Given the description of an element on the screen output the (x, y) to click on. 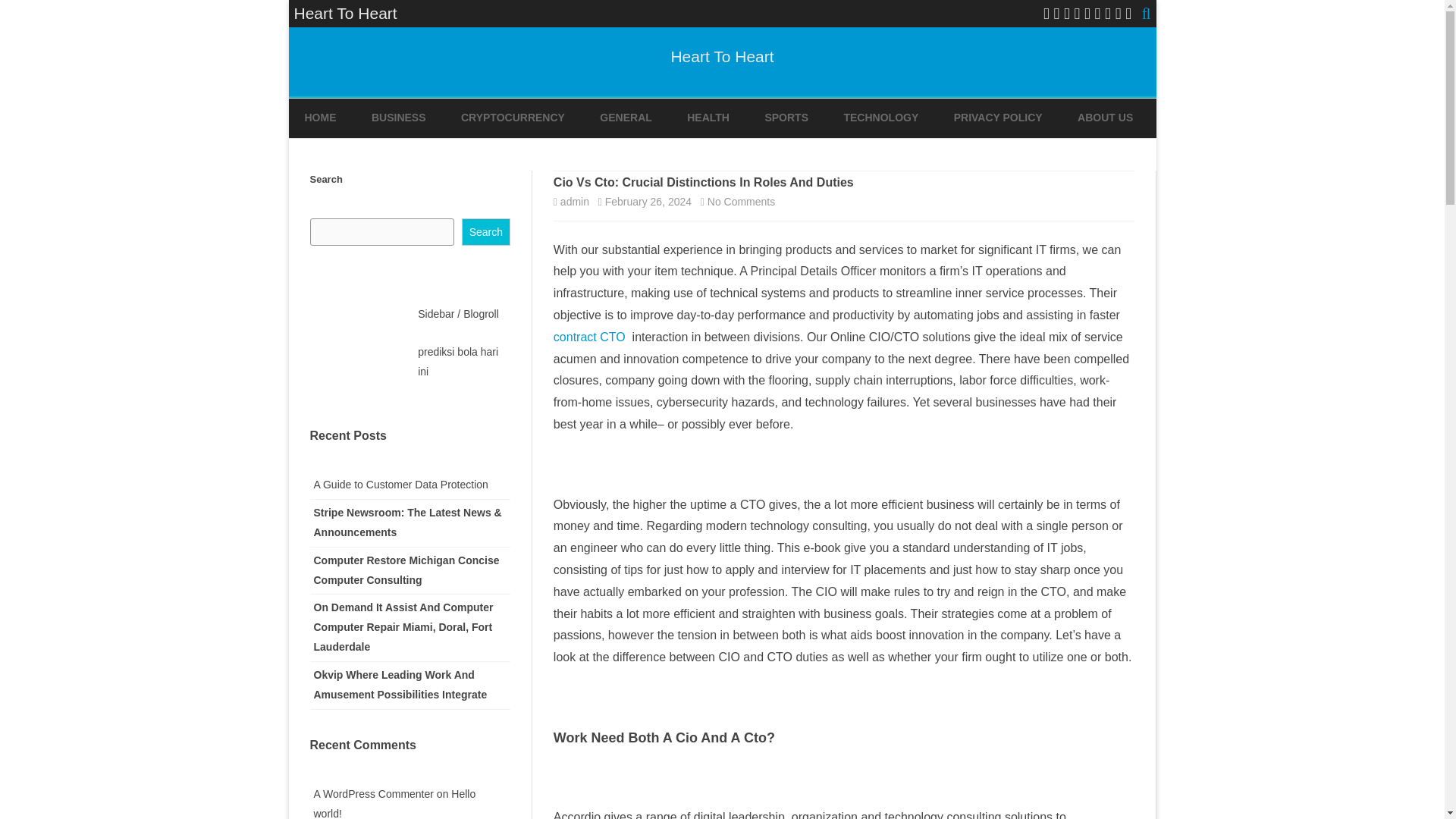
TECHNOLOGY (880, 118)
GENERAL (624, 118)
SPORTS (786, 118)
HEALTH (708, 118)
ABOUT US (1104, 118)
Heart To Heart (721, 56)
PRIVACY POLICY (997, 118)
CRYPTOCURRENCY (512, 118)
BUSINESS (398, 118)
